Given the description of an element on the screen output the (x, y) to click on. 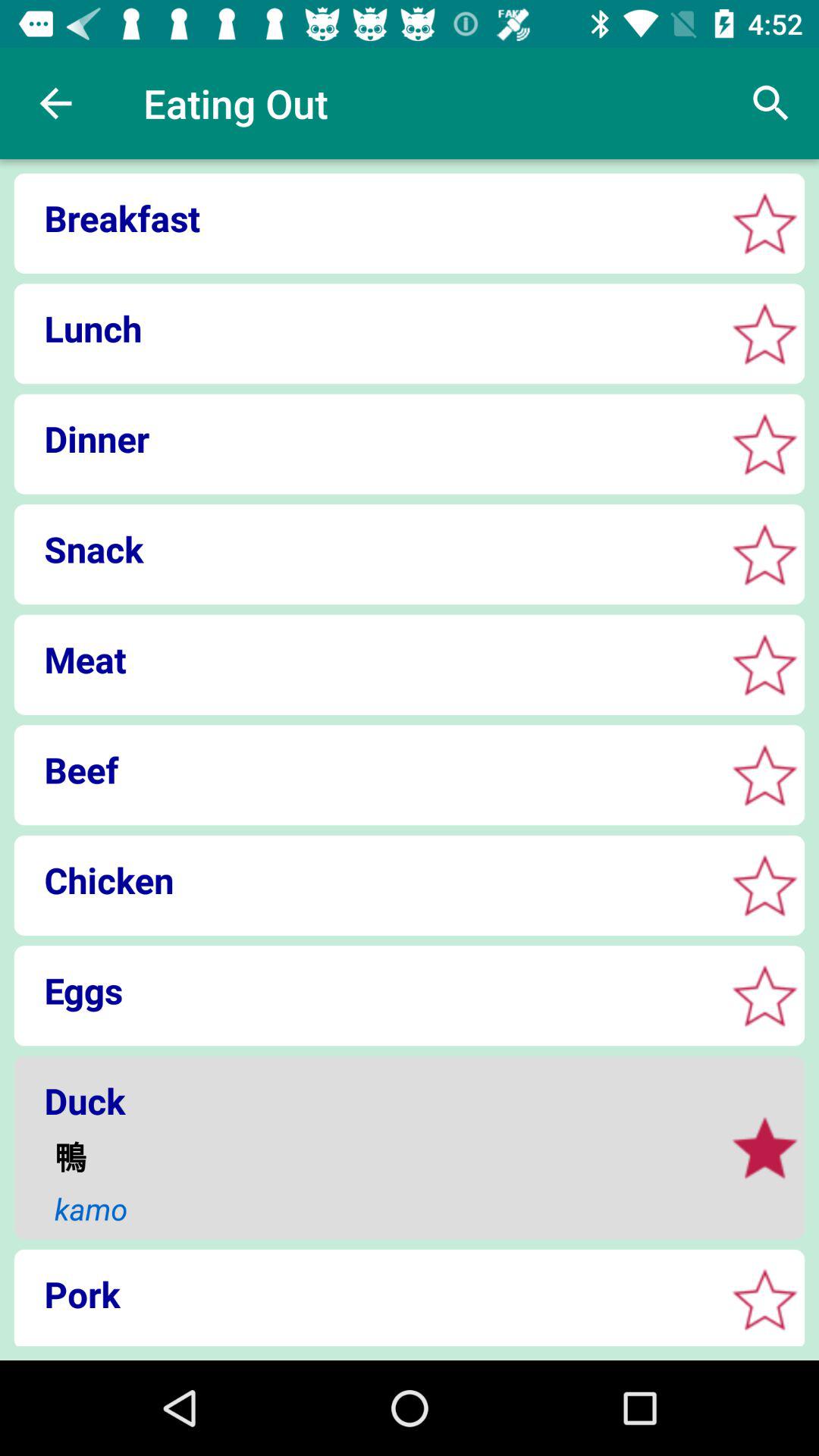
launch the kamo item (379, 1208)
